Given the description of an element on the screen output the (x, y) to click on. 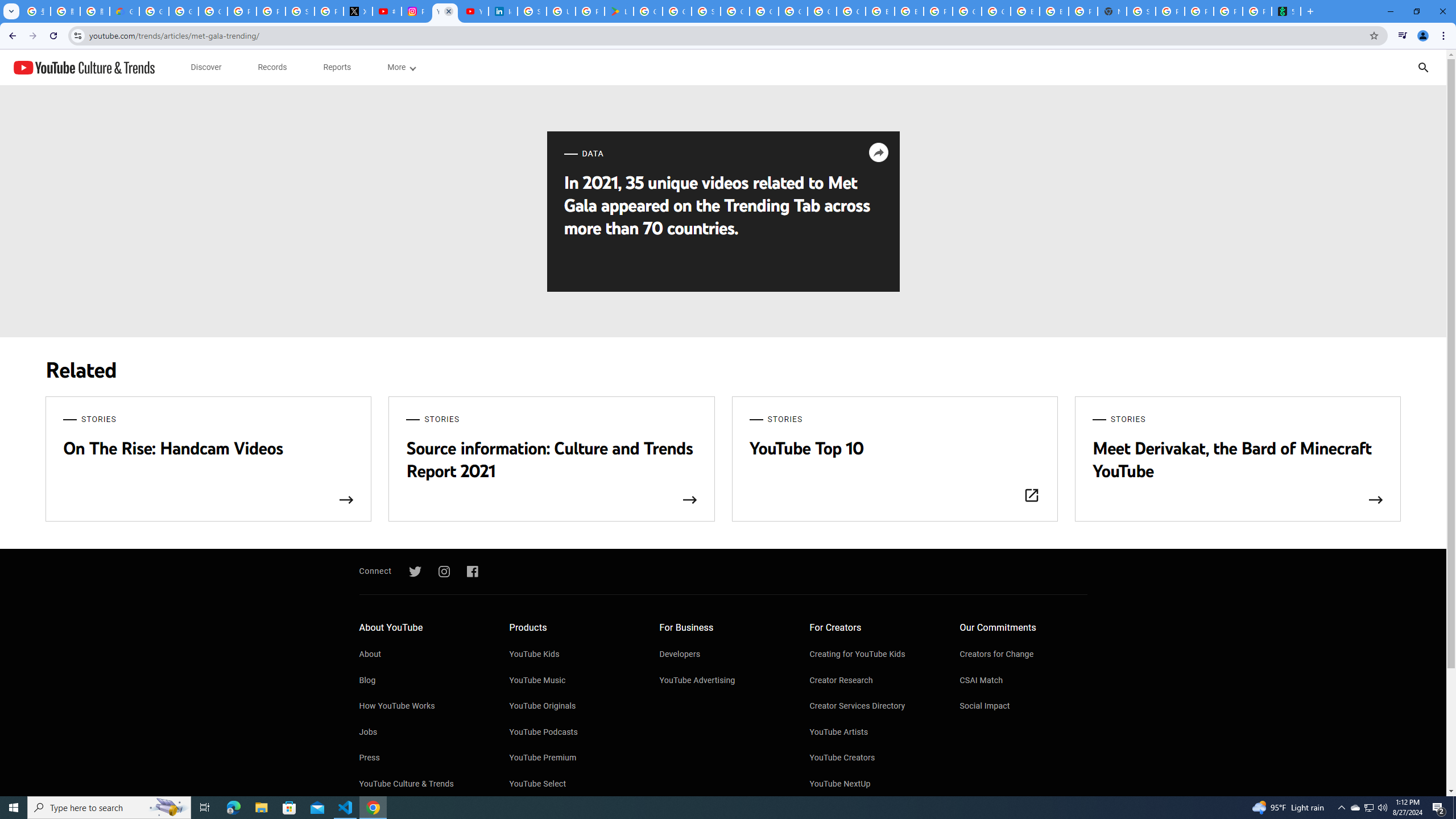
subnav-Discover menupopup (205, 67)
Press (422, 758)
Sign in - Google Accounts (705, 11)
YouTube Originals (573, 706)
subnav-Reports menupopup (336, 67)
CSAI Match (1023, 681)
Last Shelter: Survival - Apps on Google Play (619, 11)
